Given the description of an element on the screen output the (x, y) to click on. 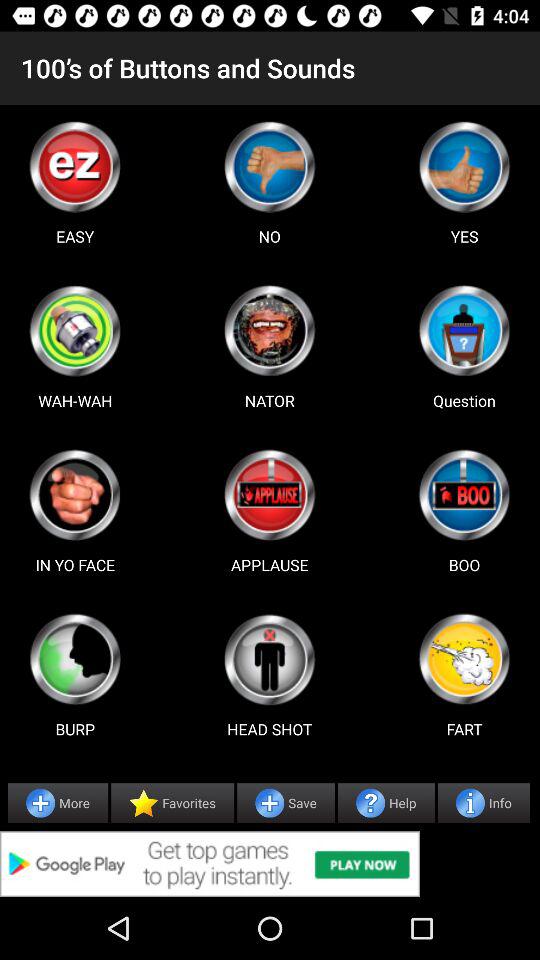
applause button (269, 495)
